Given the description of an element on the screen output the (x, y) to click on. 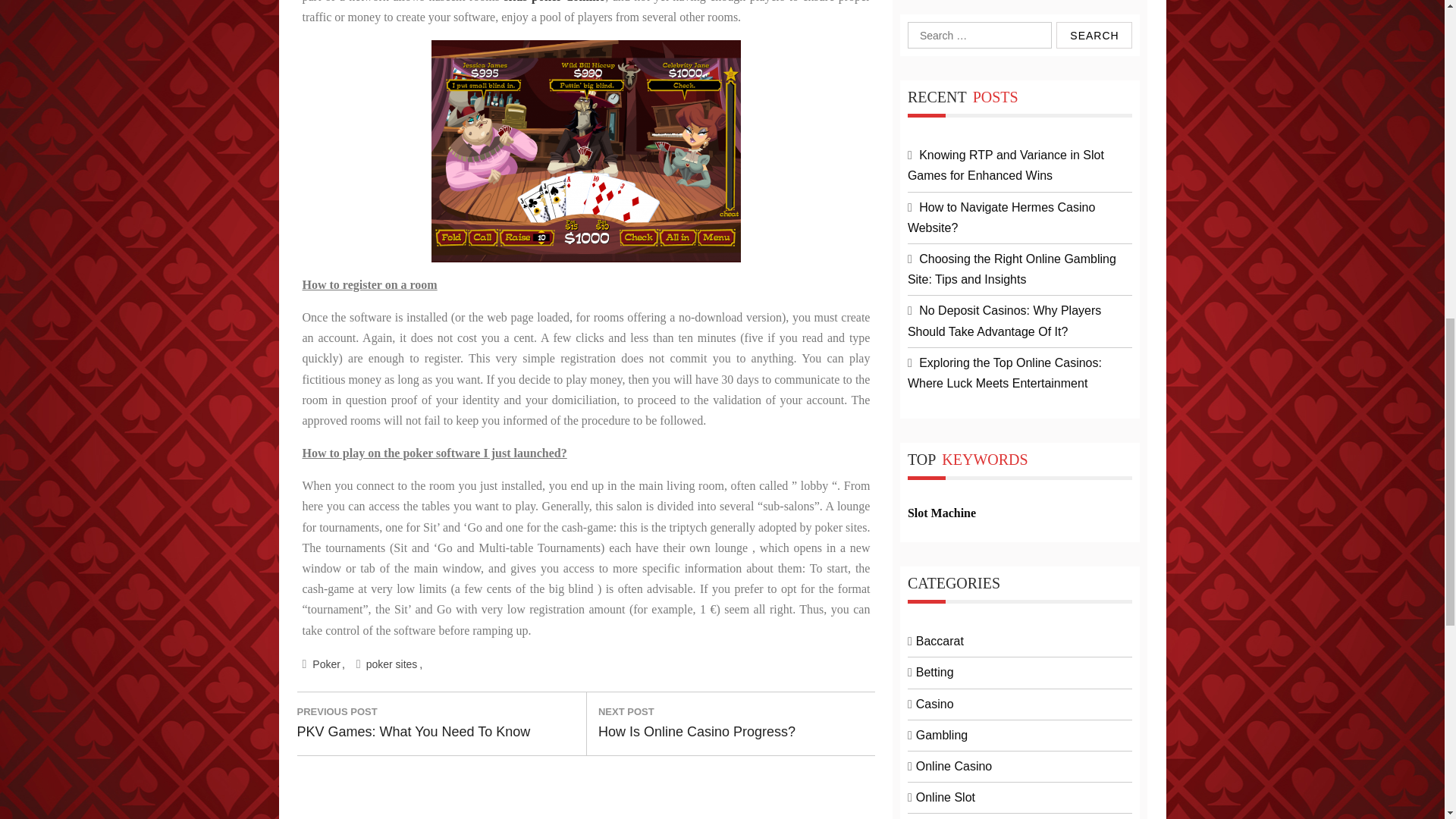
situs poker domino (554, 1)
poker sites (394, 664)
Poker (702, 723)
Search (327, 664)
Search (1094, 35)
